Given the description of an element on the screen output the (x, y) to click on. 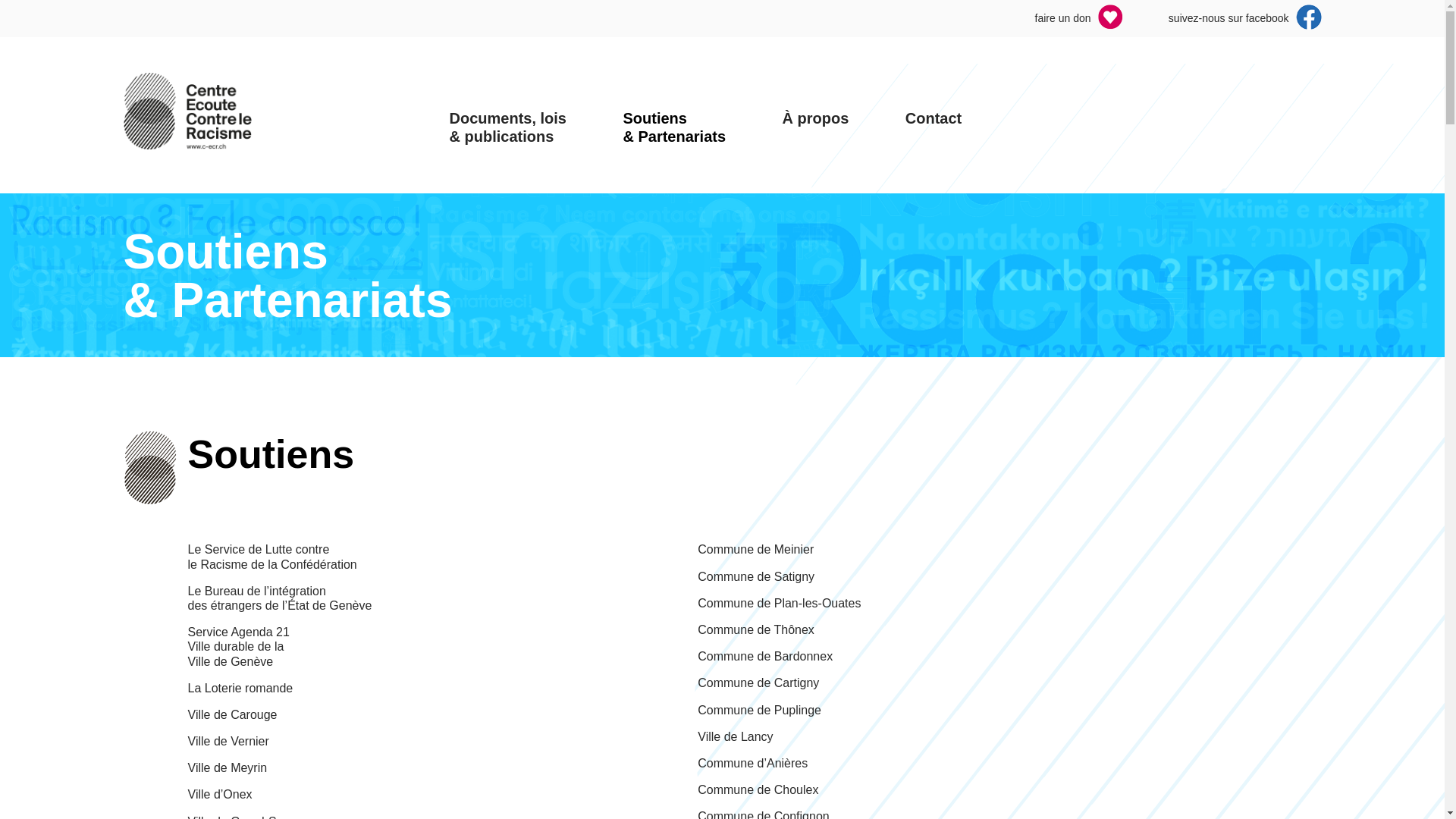
Contact Element type: text (933, 103)
Documents, lois
& publications Element type: text (508, 112)
suivez-nous sur facebook Element type: text (1244, 25)
faire un don Element type: text (1079, 25)
Soutiens
& Partenariats Element type: text (674, 112)
